Given the description of an element on the screen output the (x, y) to click on. 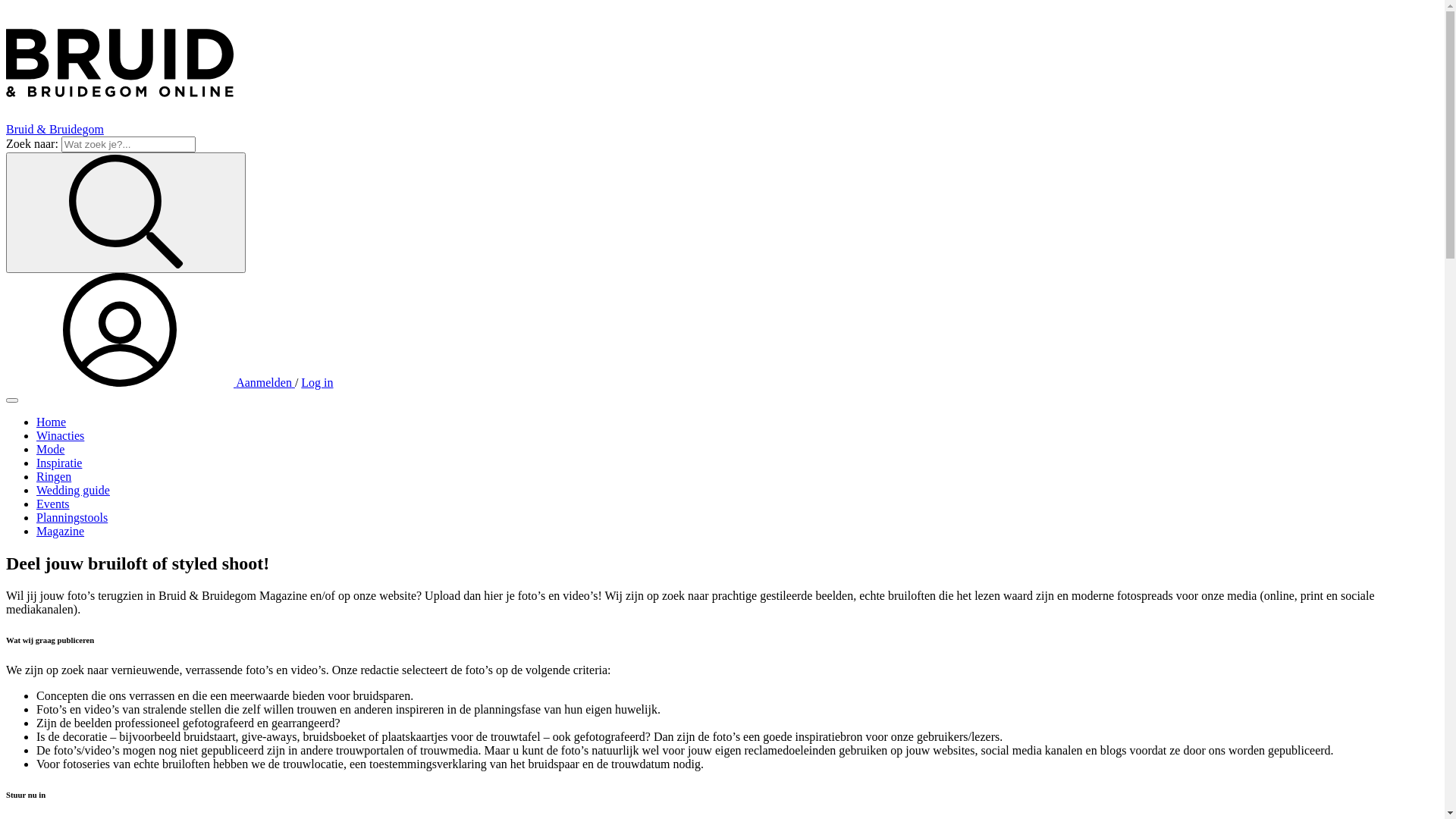
Planningstools Element type: text (71, 517)
Magazine Element type: text (60, 530)
Mode Element type: text (50, 448)
Winacties Element type: text (60, 435)
Events Element type: text (52, 503)
Zoeken naar: Element type: hover (128, 144)
Ringen Element type: text (53, 476)
Log in Element type: text (316, 382)
Bruid & Bruidegom Element type: text (722, 70)
Inspiratie Element type: text (58, 462)
Home Element type: text (50, 421)
Wedding guide Element type: text (72, 489)
Aanmelden Element type: text (150, 382)
